Given the description of an element on the screen output the (x, y) to click on. 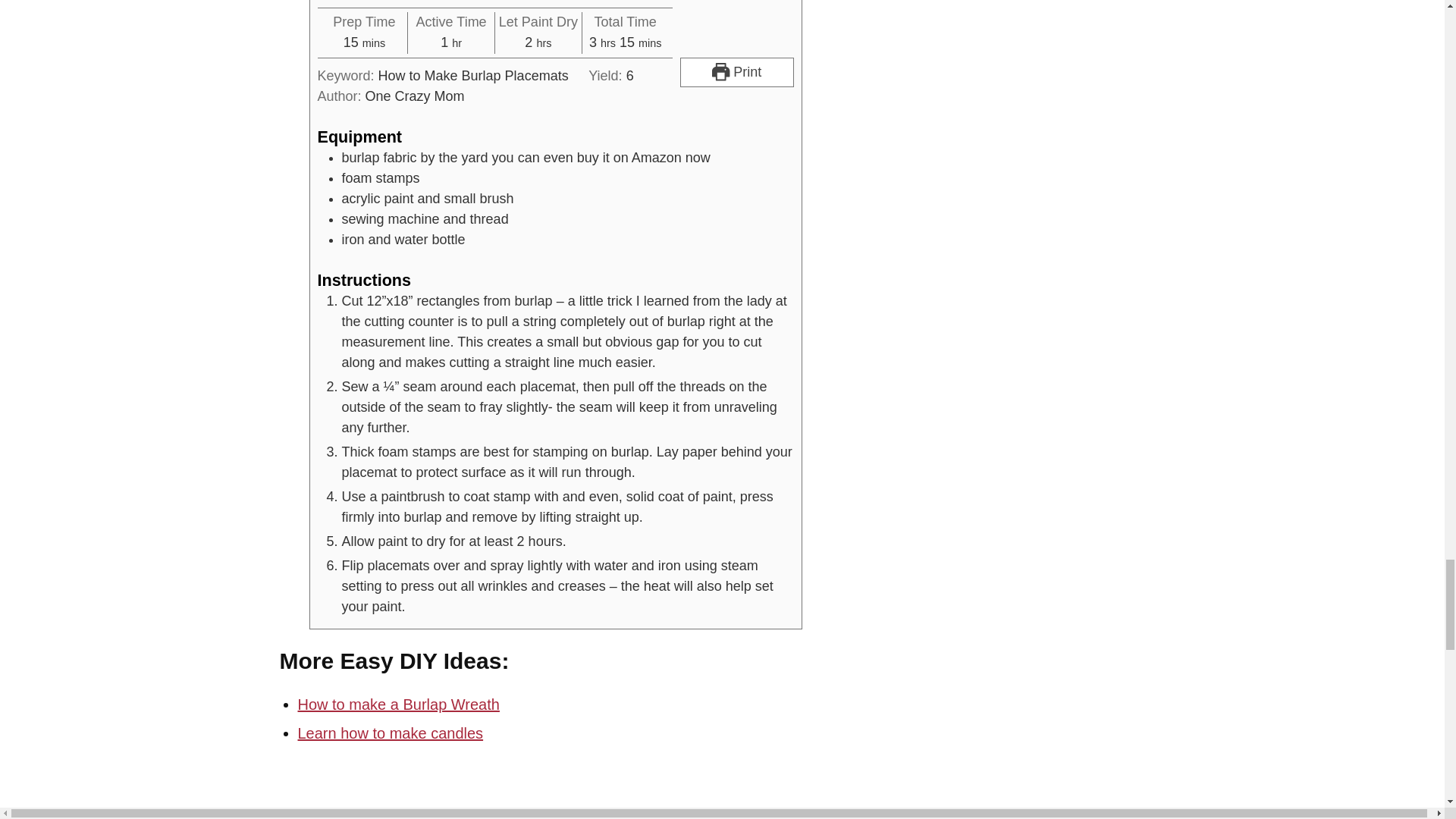
How to make a Burlap Wreath (398, 704)
Learn how to make candles (390, 733)
Print (736, 71)
